Given the description of an element on the screen output the (x, y) to click on. 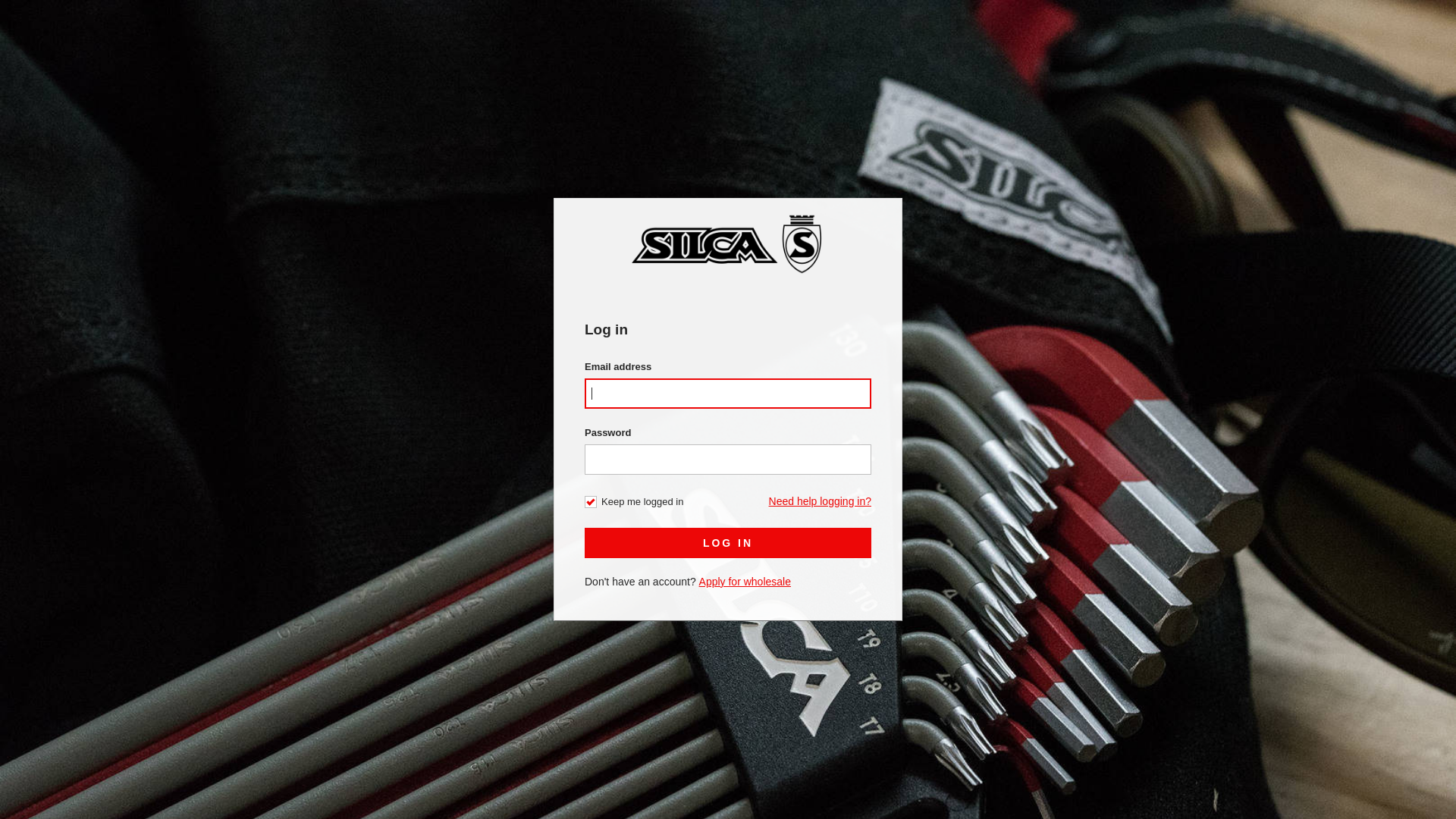
LOG IN Element type: text (727, 542)
Apply for wholesale Element type: text (744, 581)
Need help logging in? Element type: text (819, 500)
